Given the description of an element on the screen output the (x, y) to click on. 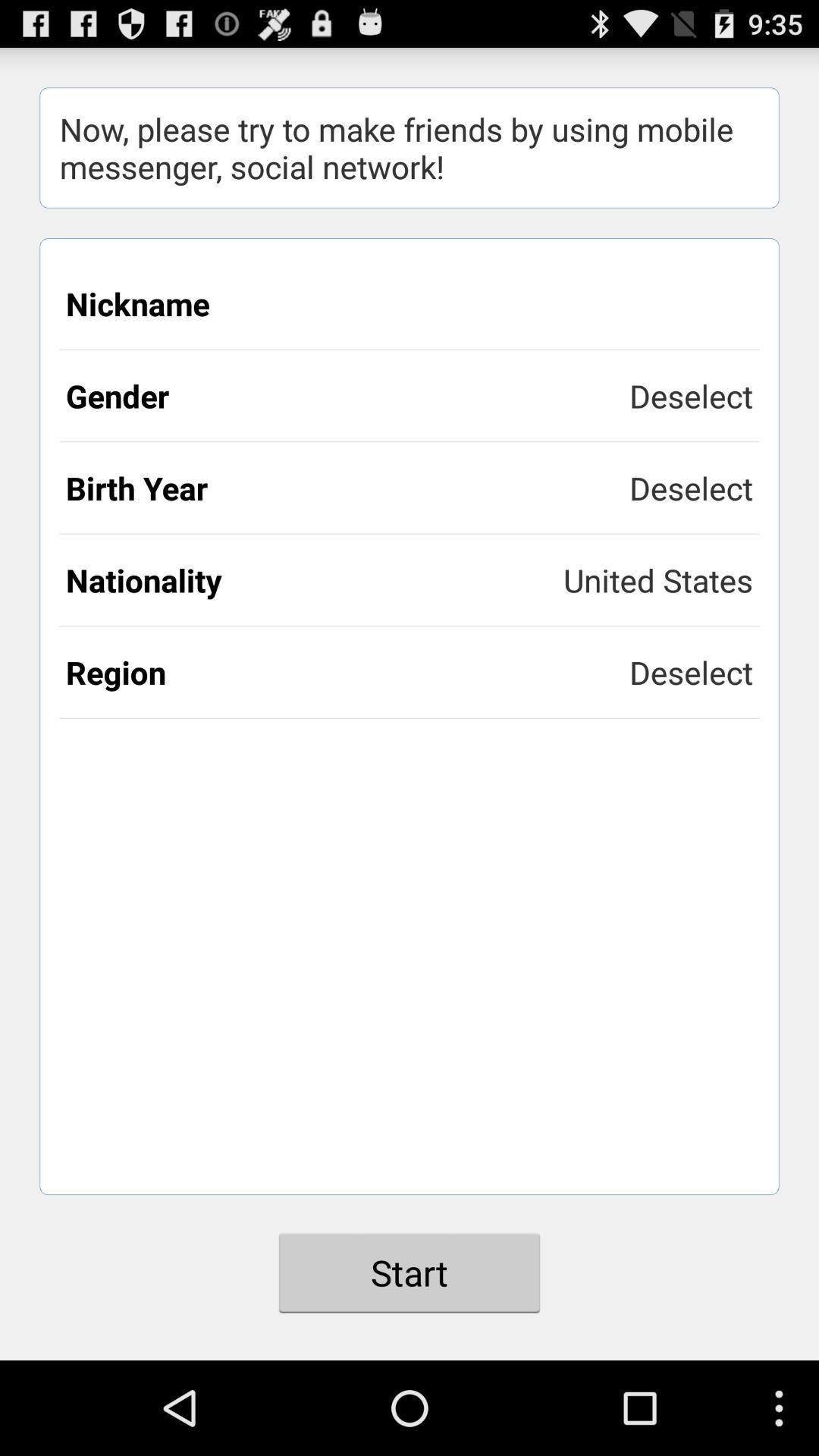
click start (409, 1272)
